Given the description of an element on the screen output the (x, y) to click on. 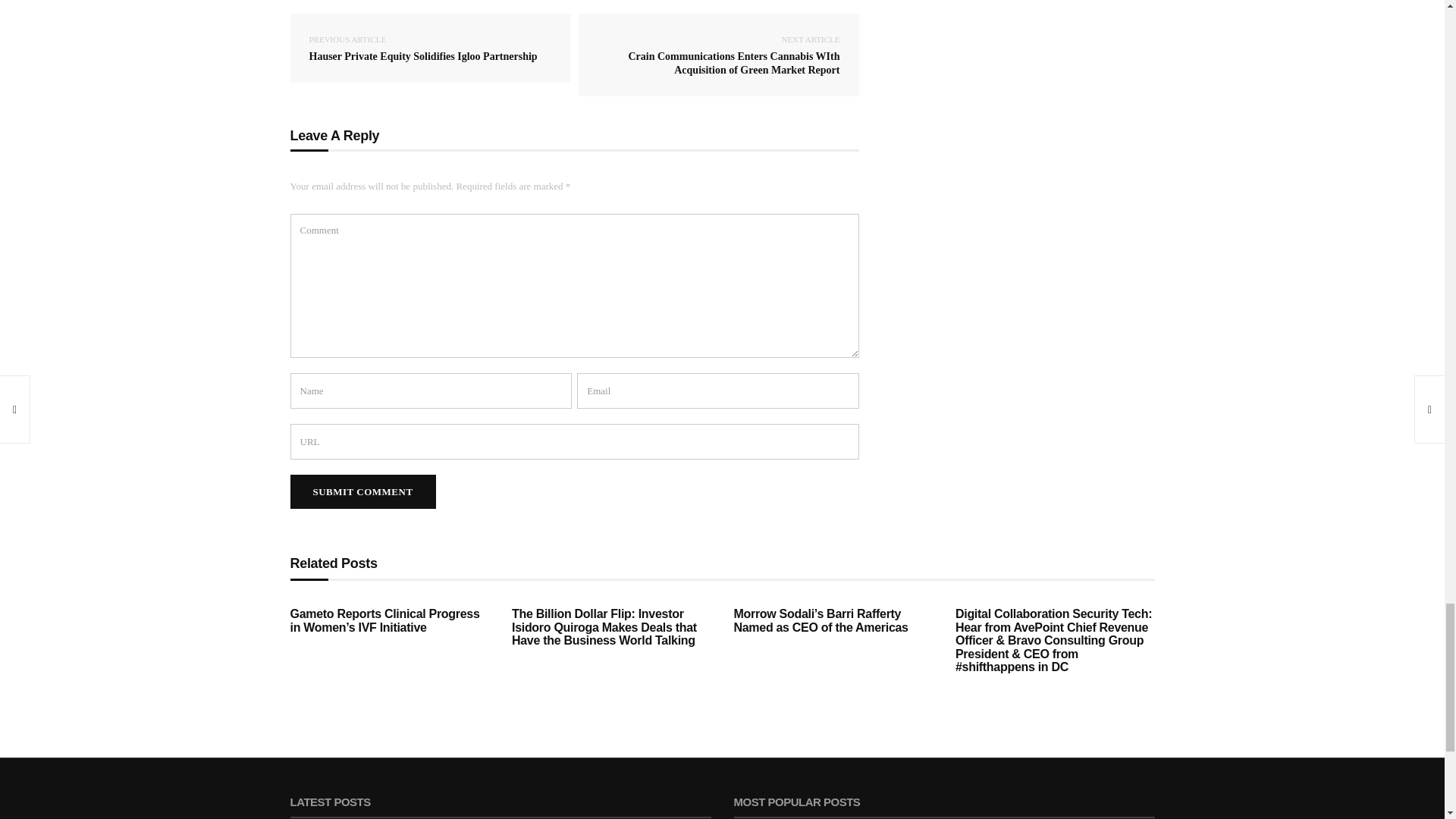
Submit Comment (362, 491)
